Given the description of an element on the screen output the (x, y) to click on. 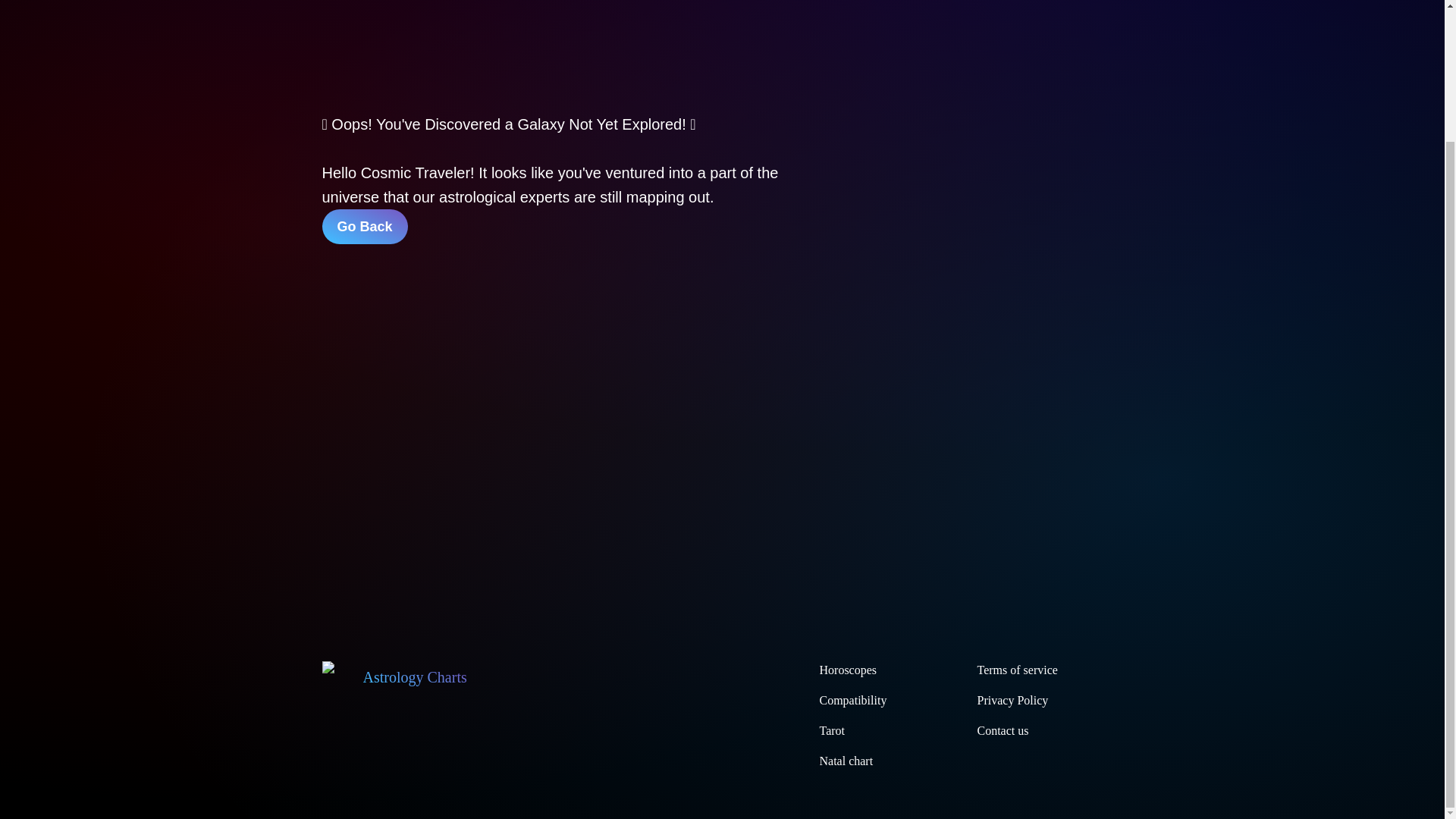
Contact us (1001, 730)
Compatibility (852, 699)
Horoscopes (847, 669)
Privacy Policy (1012, 699)
Go Back (364, 226)
Go Back (364, 226)
Terms of service (1016, 669)
Astrology Charts (393, 676)
Natal chart (845, 760)
Tarot (831, 730)
